Given the description of an element on the screen output the (x, y) to click on. 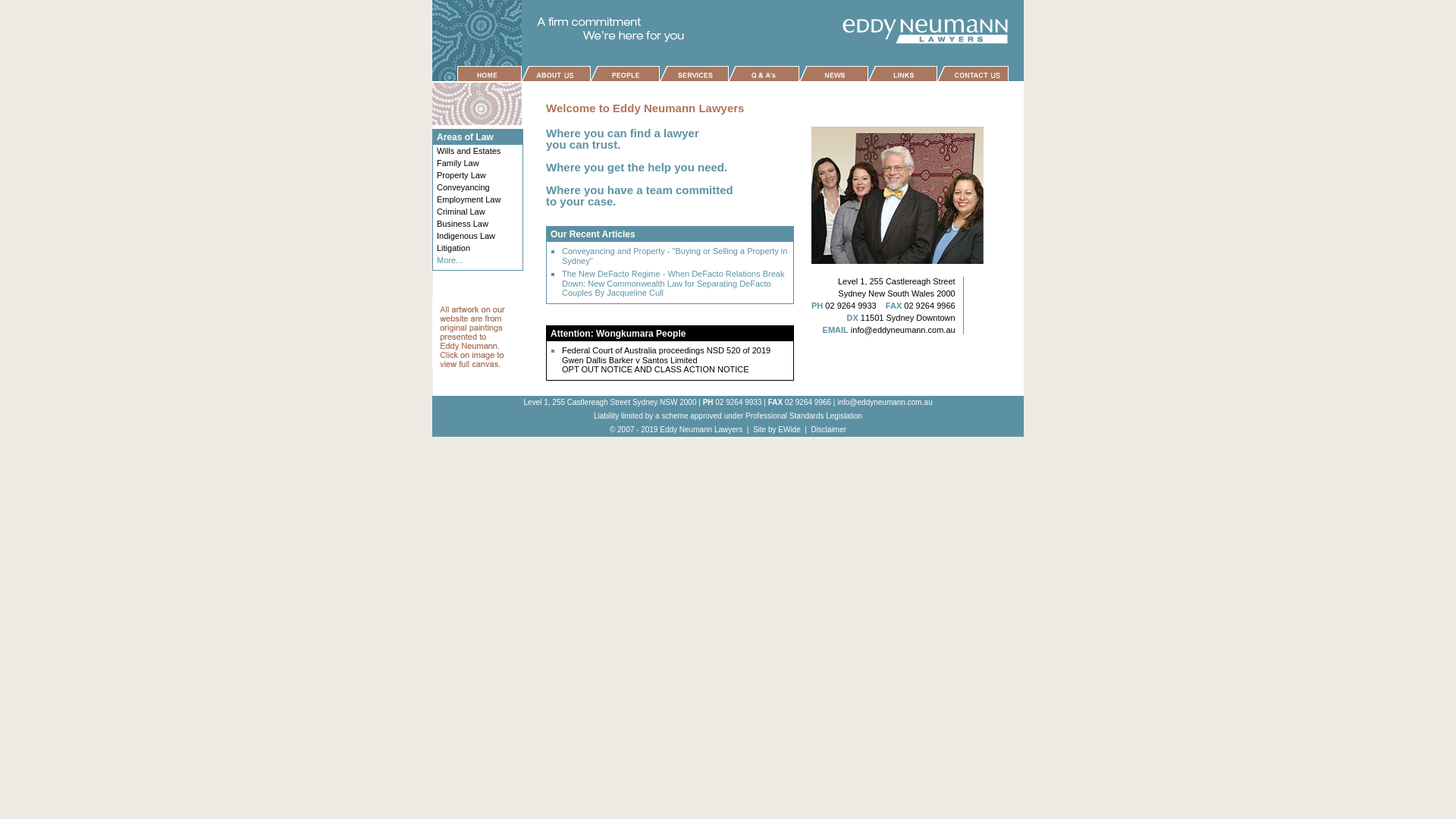
More... Element type: text (449, 259)
Disclaimer Element type: text (828, 429)
info@eddyneumann.com.au Element type: text (884, 402)
EWide Element type: text (789, 429)
info@eddyneumann.com.au Element type: text (902, 329)
